Given the description of an element on the screen output the (x, y) to click on. 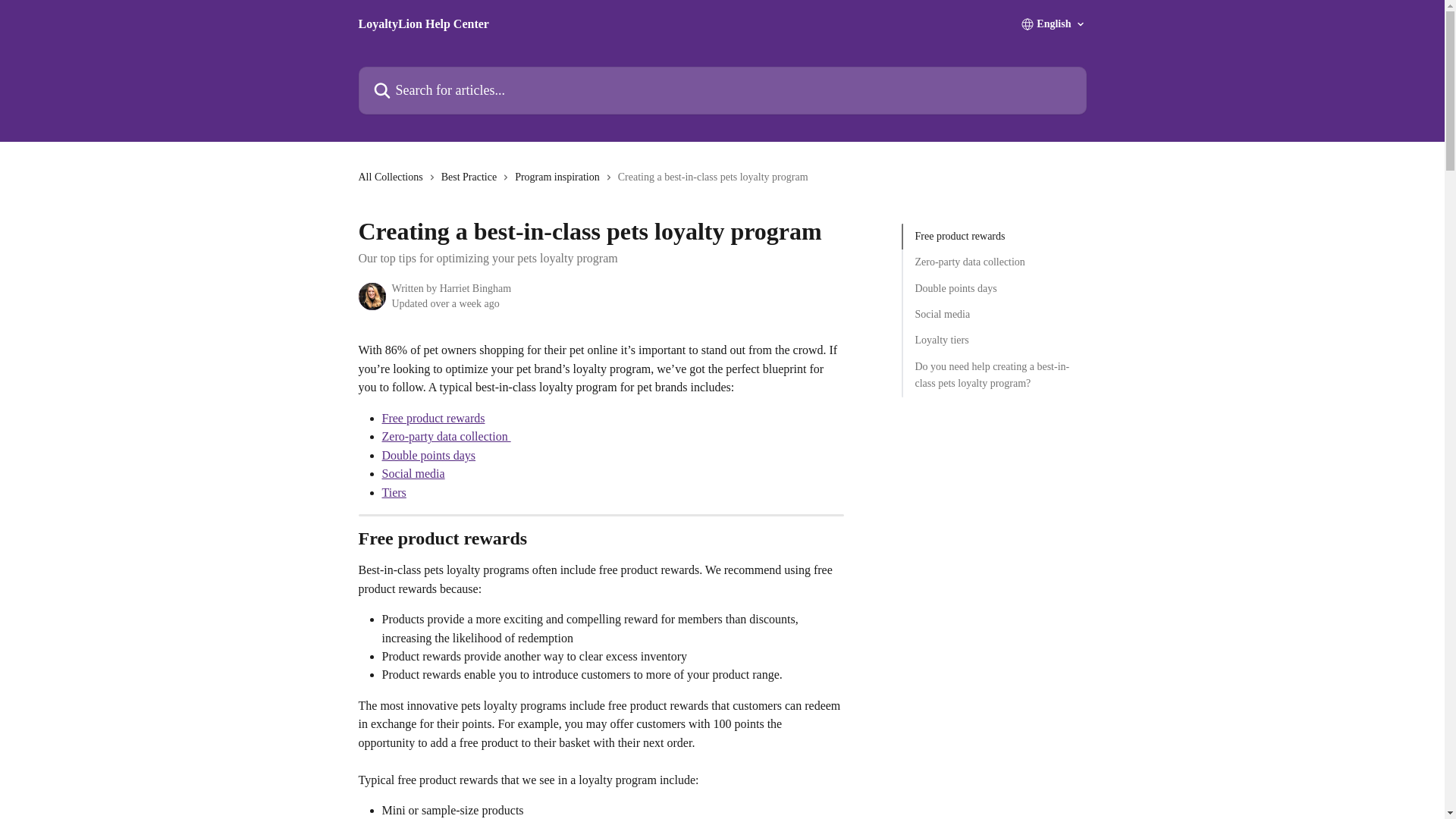
Zero-party data collection (446, 436)
Zero-party data collection (994, 262)
Social media (994, 314)
Program inspiration (560, 176)
All Collections (393, 176)
Free product rewards (994, 236)
Social media (413, 472)
Best Practice (471, 176)
Free product rewards (432, 418)
Double points days (994, 288)
Tiers (393, 492)
Double points days (428, 454)
Loyalty tiers (994, 340)
